Given the description of an element on the screen output the (x, y) to click on. 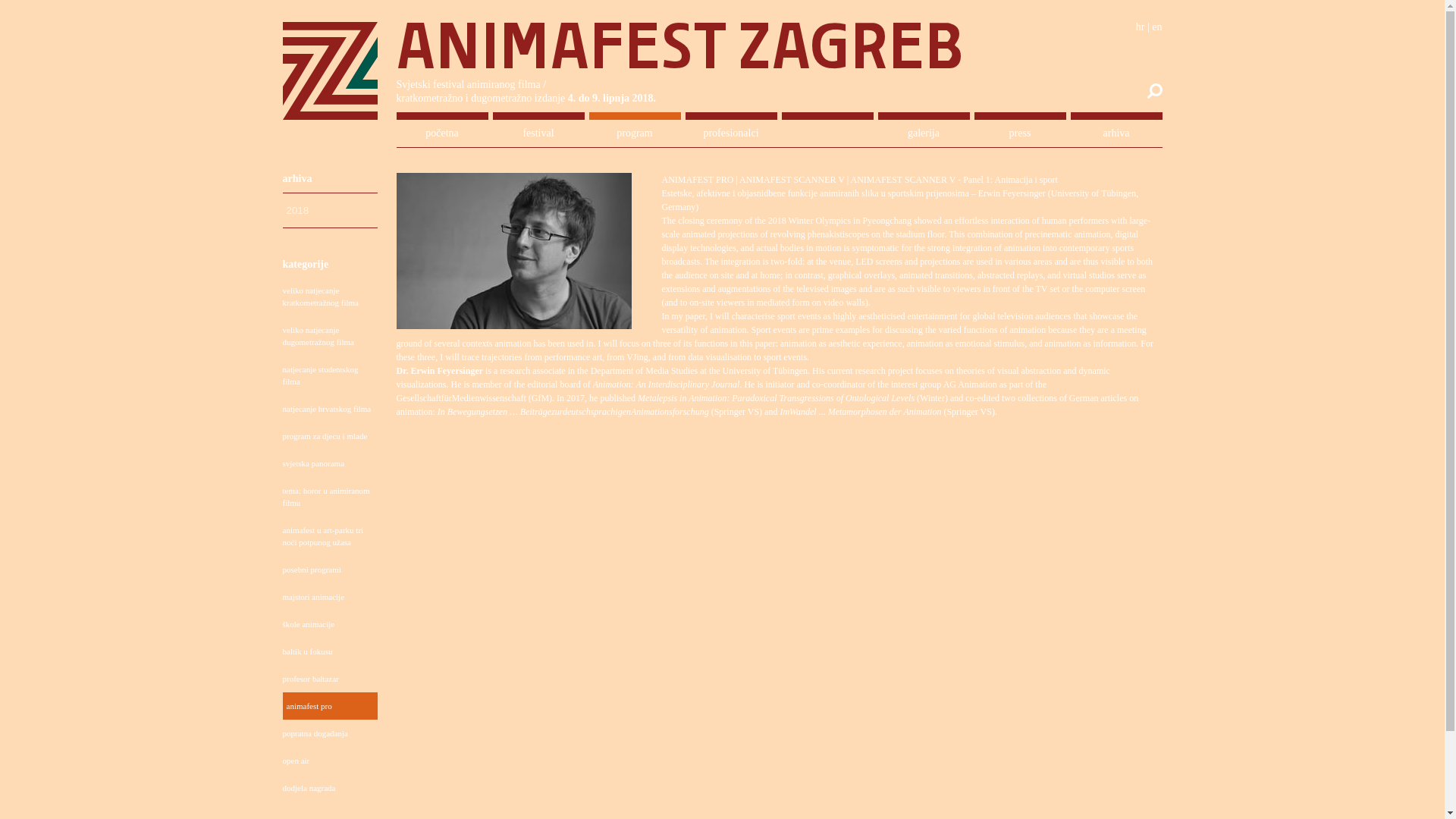
festival (539, 133)
arhiva (1115, 133)
profesionalci (731, 133)
press (1019, 133)
galerija (923, 133)
program (633, 133)
